Given the description of an element on the screen output the (x, y) to click on. 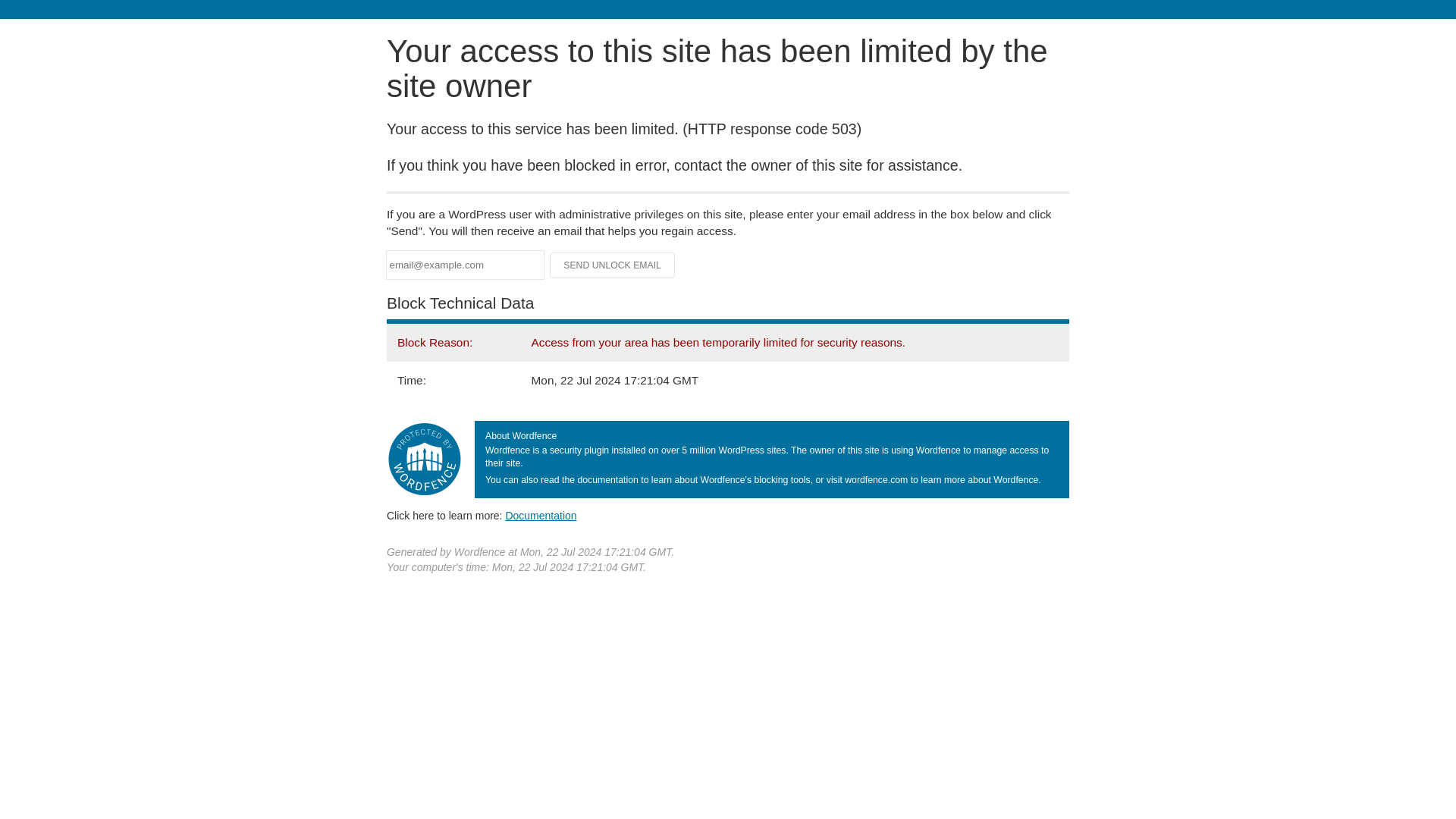
Send Unlock Email (612, 265)
Send Unlock Email (612, 265)
Documentation (540, 515)
